Given the description of an element on the screen output the (x, y) to click on. 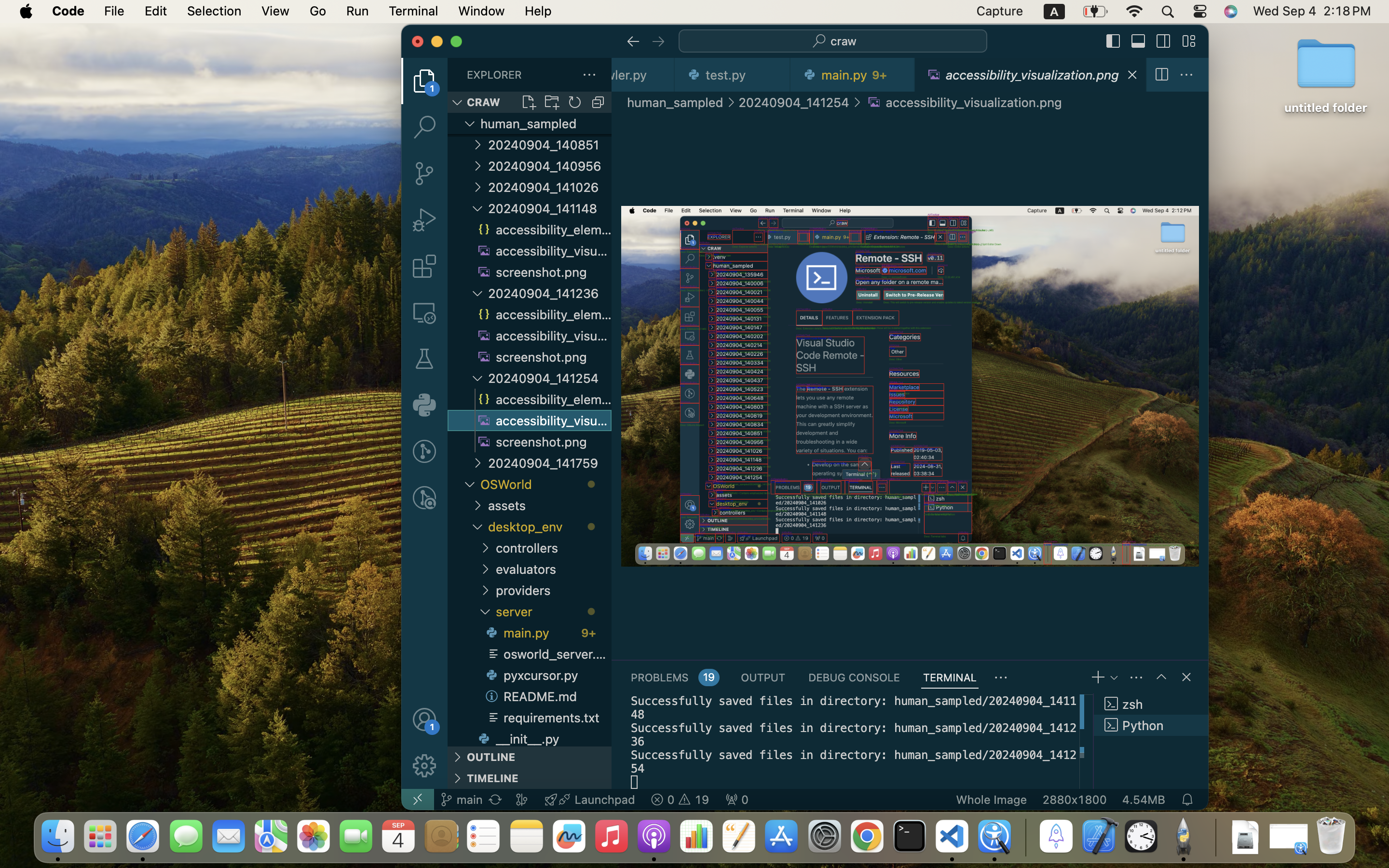
20240904_141759 Element type: AXGroup (549, 462)
Python  Element type: AXGroup (1150, 724)
20240904_140834 human_sampled   Element type: AXGroup (529, 123)
1 accessibility_visualization.png   Element type: AXRadioButton (1030, 74)
 Element type: AXStaticText (477, 165)
